Given the description of an element on the screen output the (x, y) to click on. 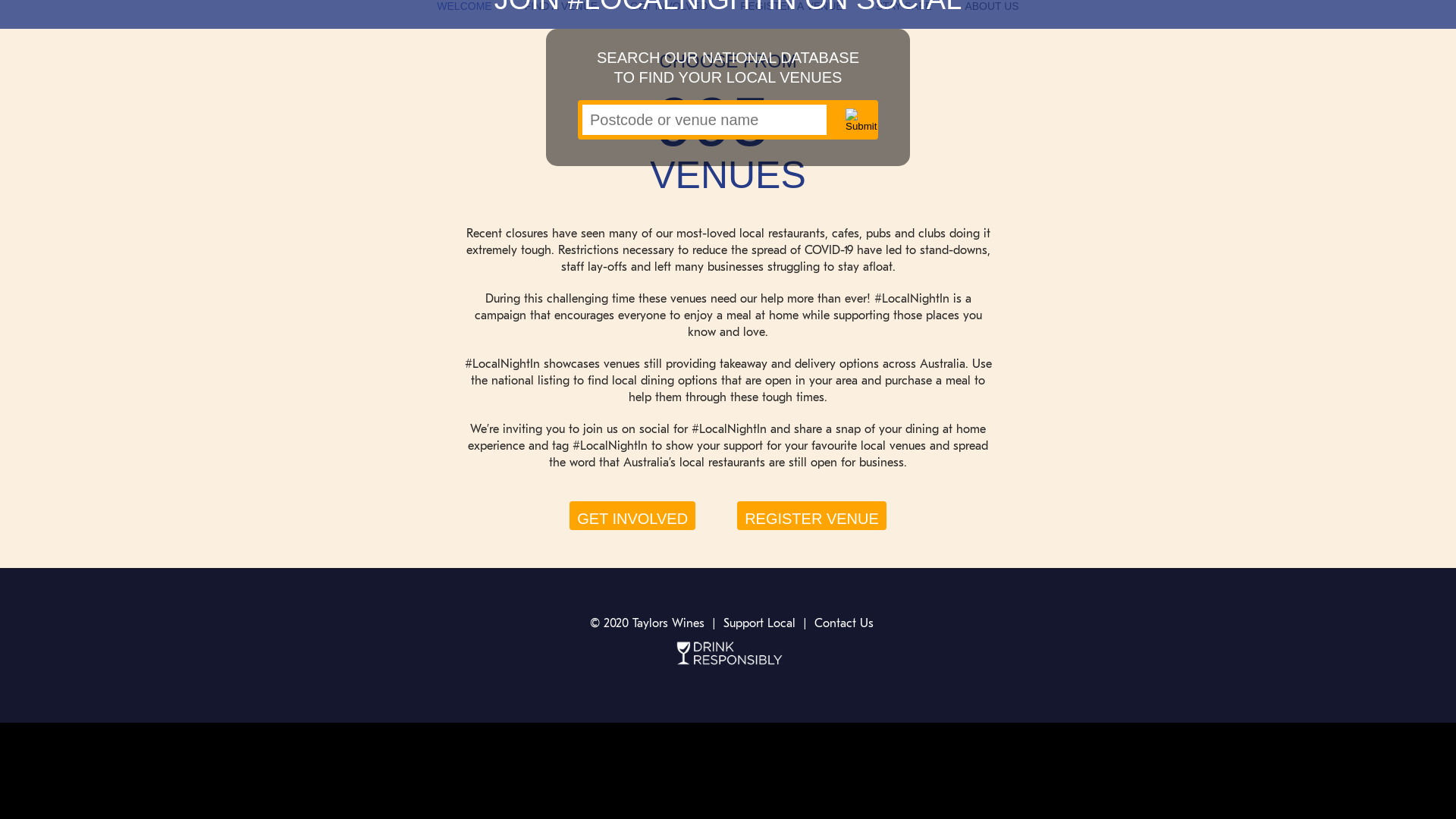
REGISTER A VENUE Element type: text (791, 6)
ABOUT US Element type: text (991, 6)
GET INVOLVED Element type: text (668, 6)
WELCOME Element type: text (463, 6)
GET INVOLVED Element type: text (632, 515)
Contact Us Element type: text (843, 623)
CHOOSE FROM
995+
VENUES Element type: text (727, 120)
REGISTER VENUE Element type: text (811, 515)
STAY SAFE Element type: text (903, 6)
FIND A VENUE Element type: text (560, 6)
